Given the description of an element on the screen output the (x, y) to click on. 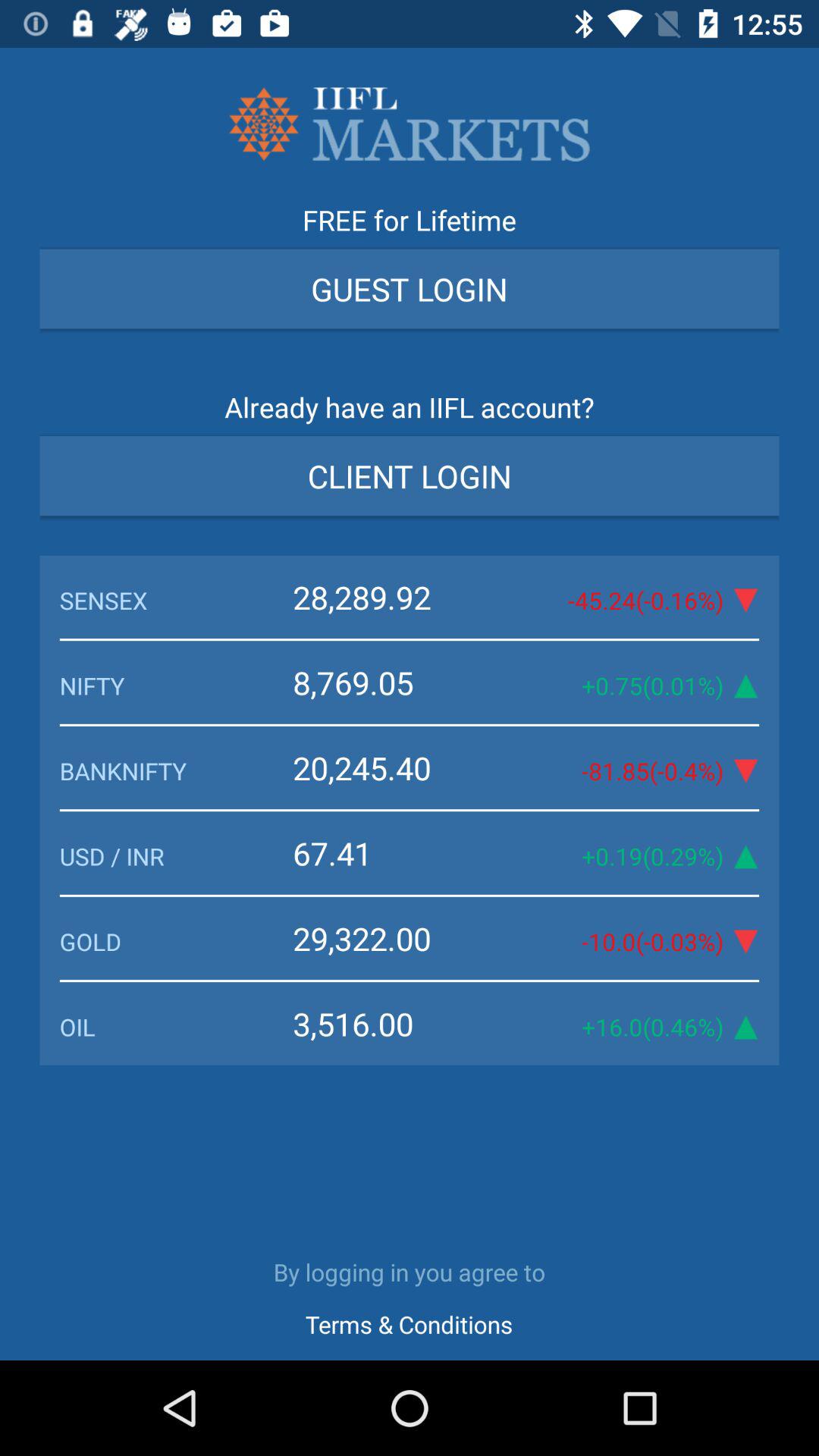
flip until the usd / inr icon (175, 856)
